Given the description of an element on the screen output the (x, y) to click on. 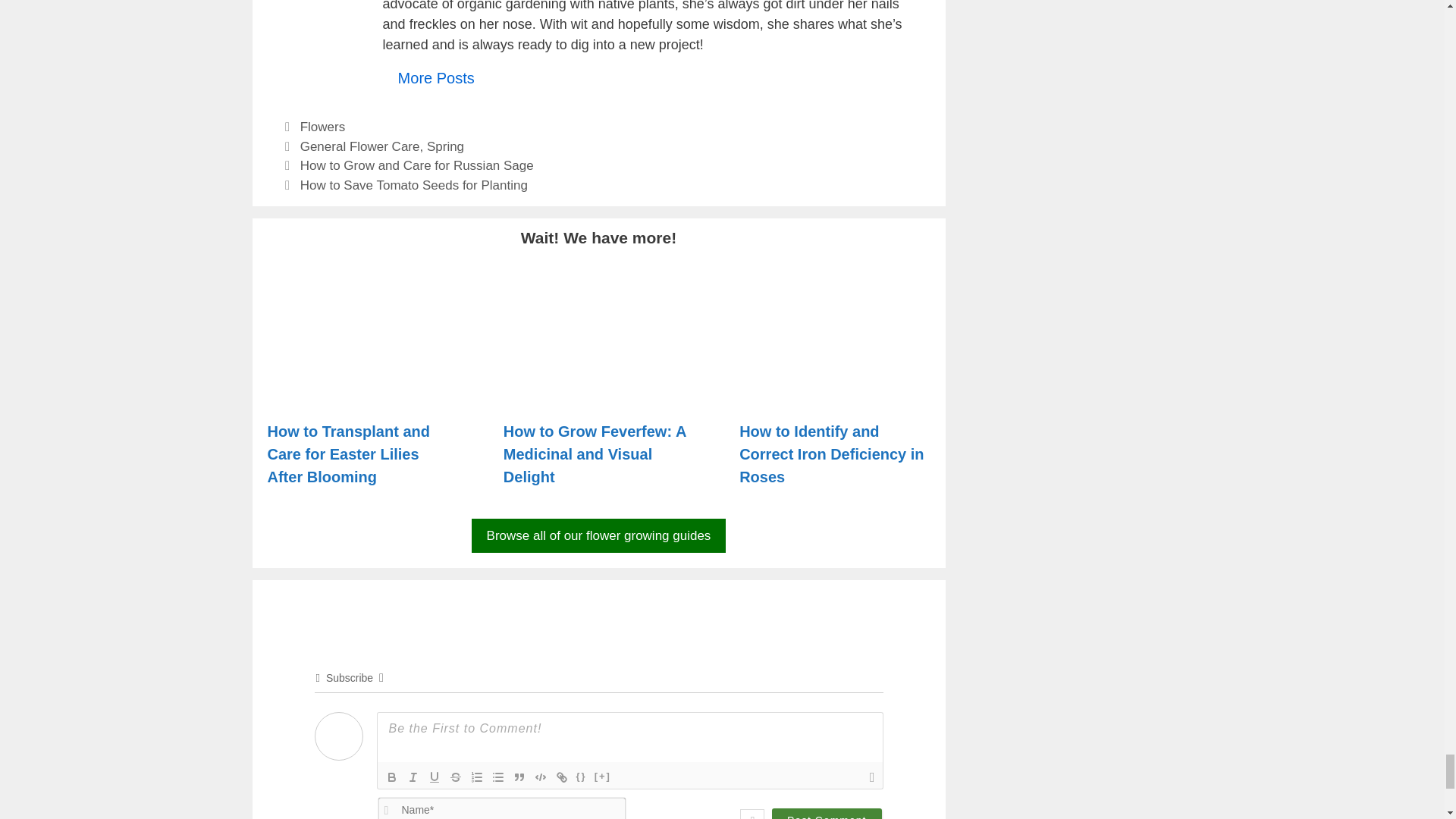
How to Transplant and Care for Easter Lilies After Blooming (361, 393)
How to Identify and Correct Iron Deficiency in Roses (833, 393)
Bold (390, 777)
Post Comment (826, 813)
How to Grow Feverfew: A Medicinal and Visual Delight (598, 393)
